Given the description of an element on the screen output the (x, y) to click on. 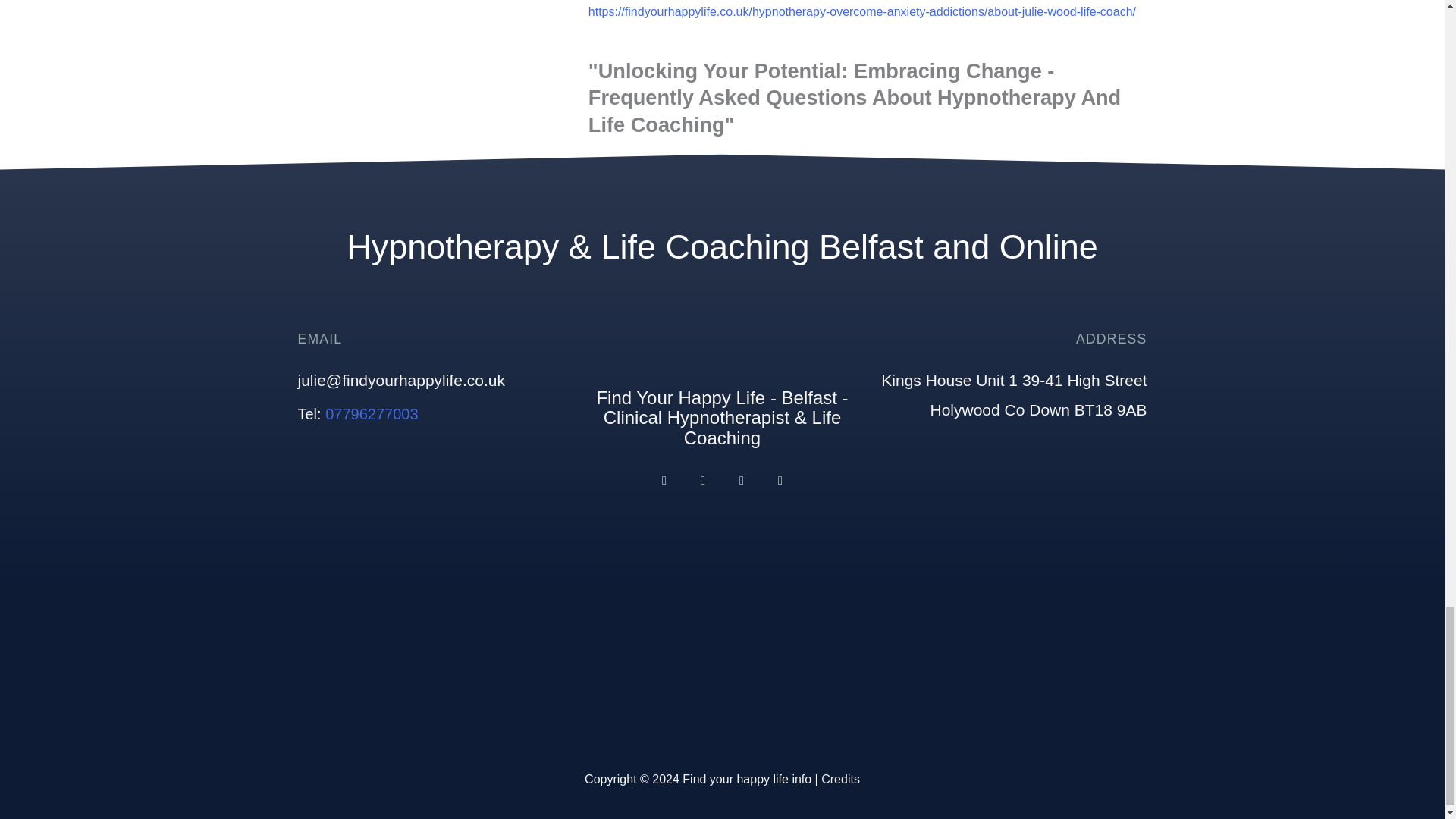
Credits (840, 779)
EMAIL (319, 338)
07796277003 (370, 413)
